Given the description of an element on the screen output the (x, y) to click on. 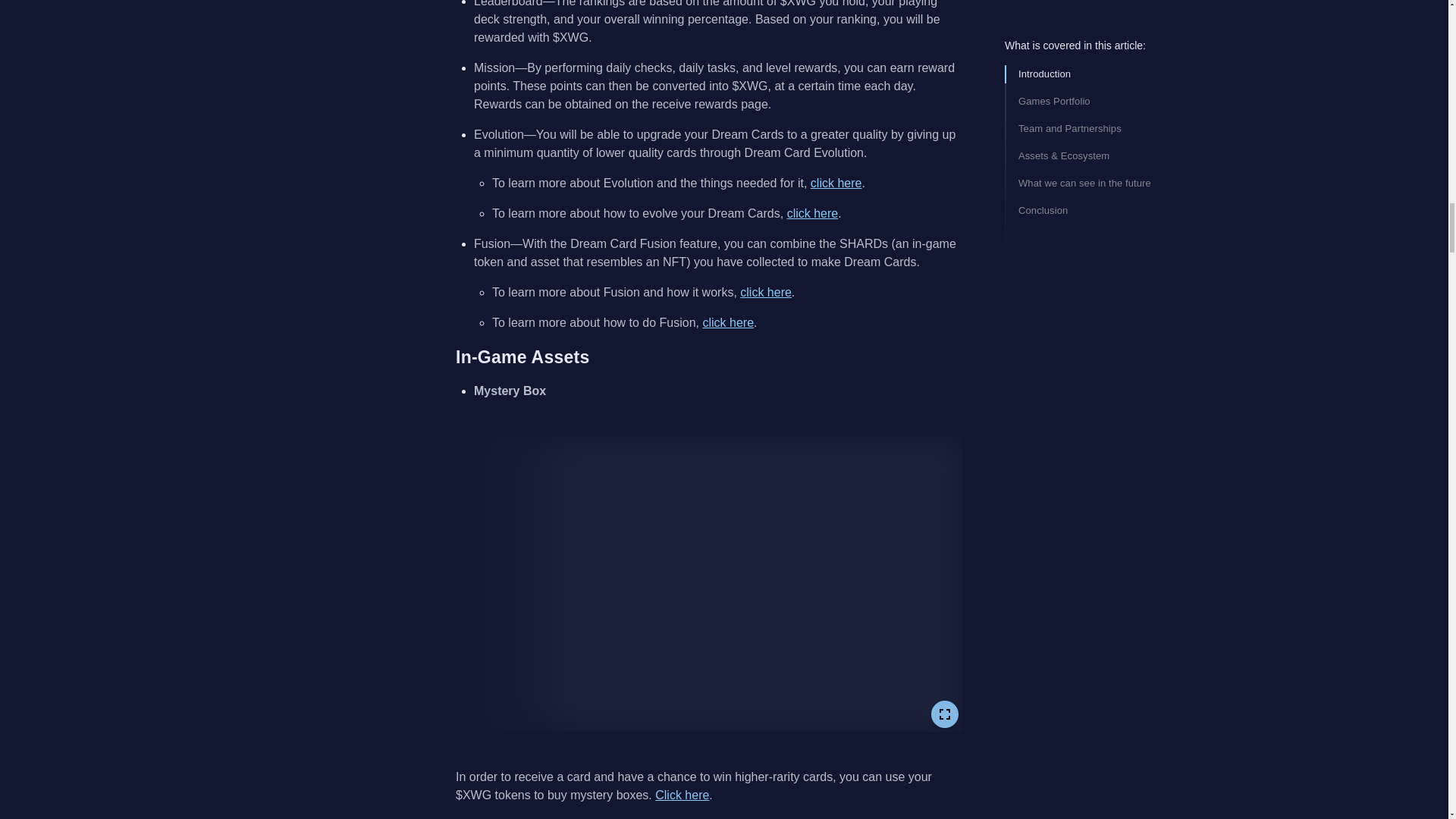
click here (835, 182)
click here (727, 322)
click here (765, 291)
click here (812, 213)
Click here (682, 794)
